Given the description of an element on the screen output the (x, y) to click on. 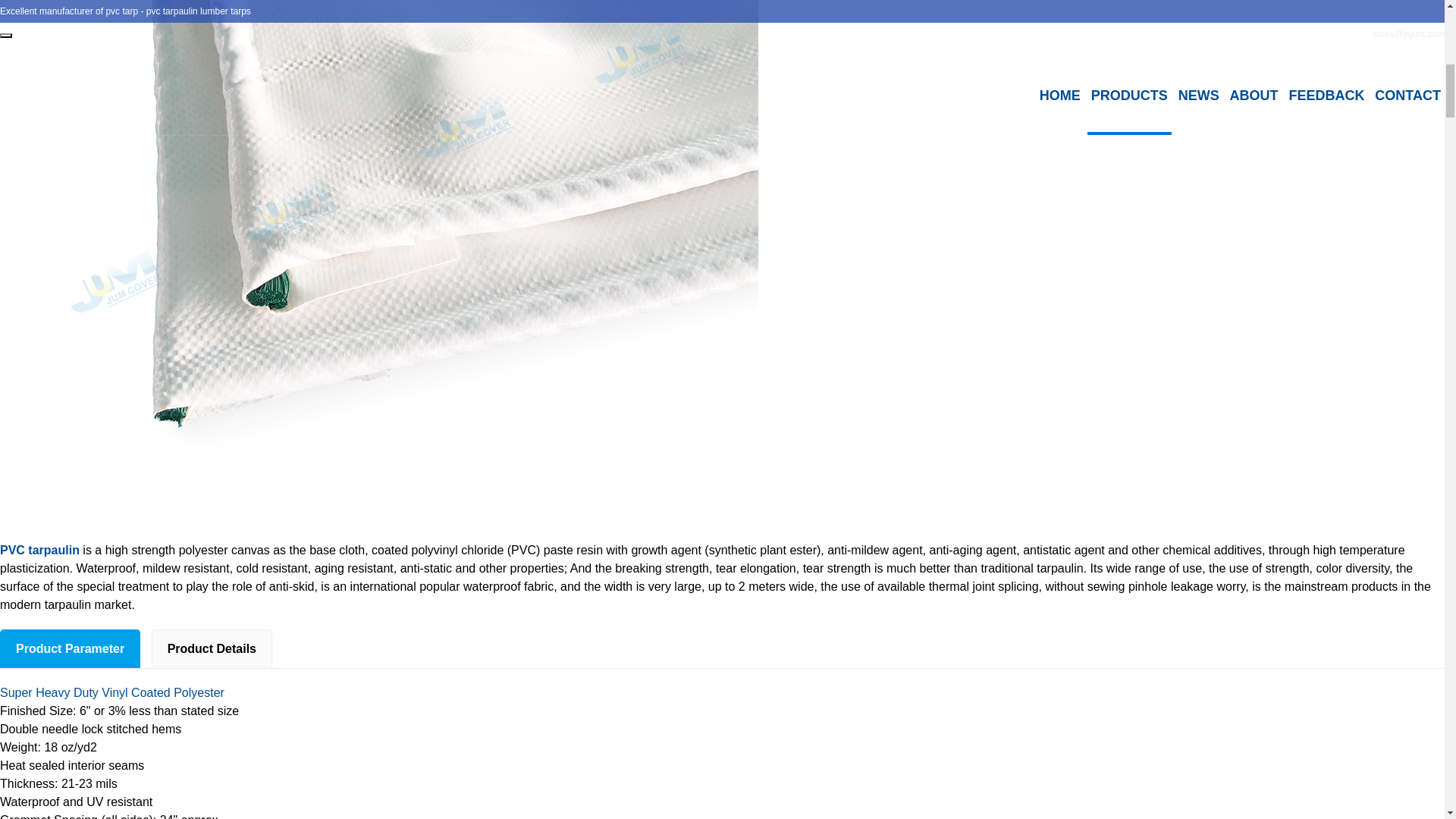
Super Heavy Duty Vinyl Coated Polyester (112, 692)
pvc coated fabric (112, 692)
PVC tarpaulin (40, 549)
